Given the description of an element on the screen output the (x, y) to click on. 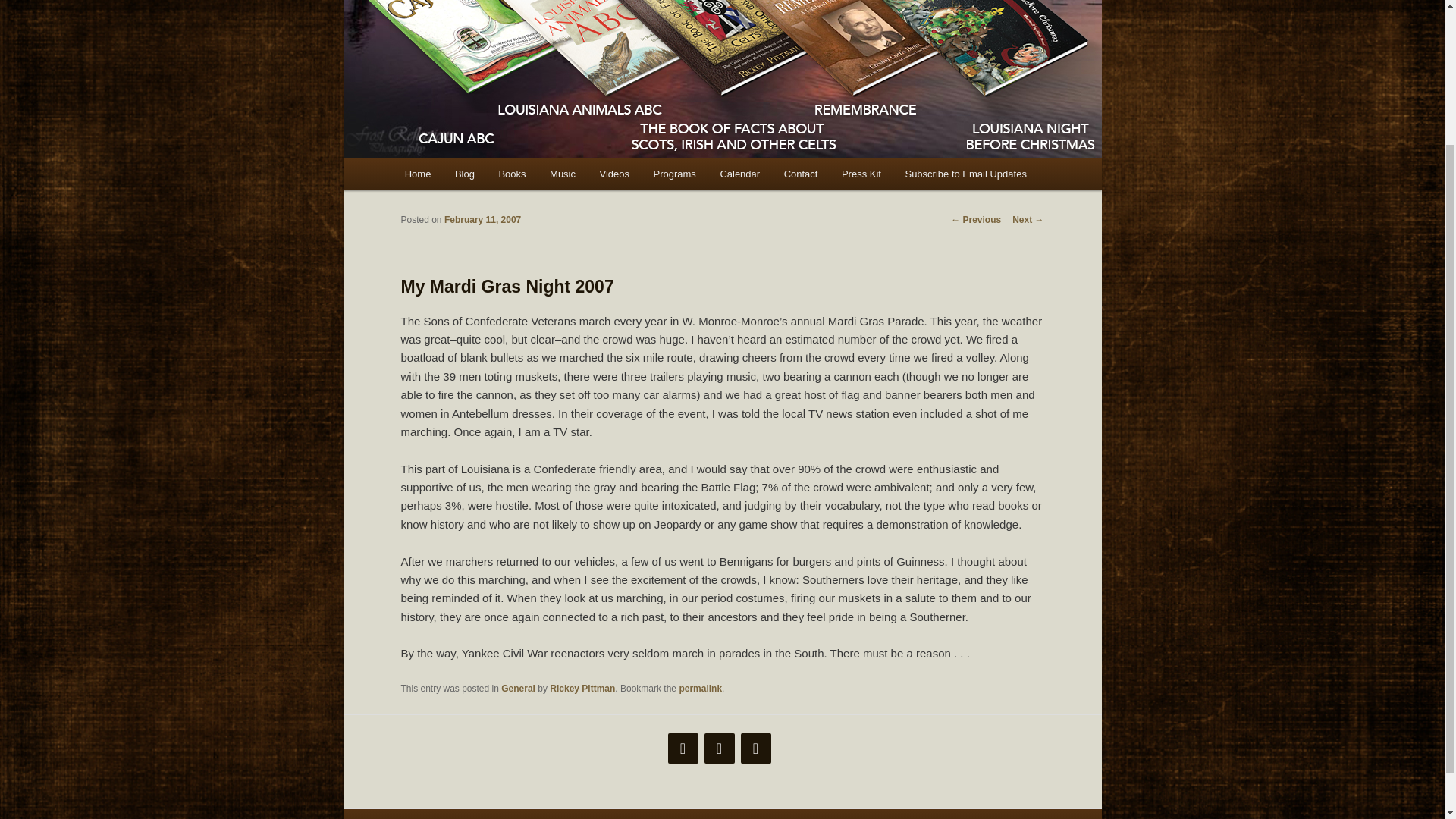
February 11, 2007 (482, 219)
Blog (464, 174)
permalink (700, 688)
YouTube (754, 748)
Press Kit (861, 174)
Books (512, 174)
General (517, 688)
Programs (674, 174)
Home (417, 174)
Subscribe to Email Updates (966, 174)
Permalink to My Mardi Gras Night 2007 (700, 688)
Videos (615, 174)
Calendar (739, 174)
Rickey Pittman (582, 688)
